Given the description of an element on the screen output the (x, y) to click on. 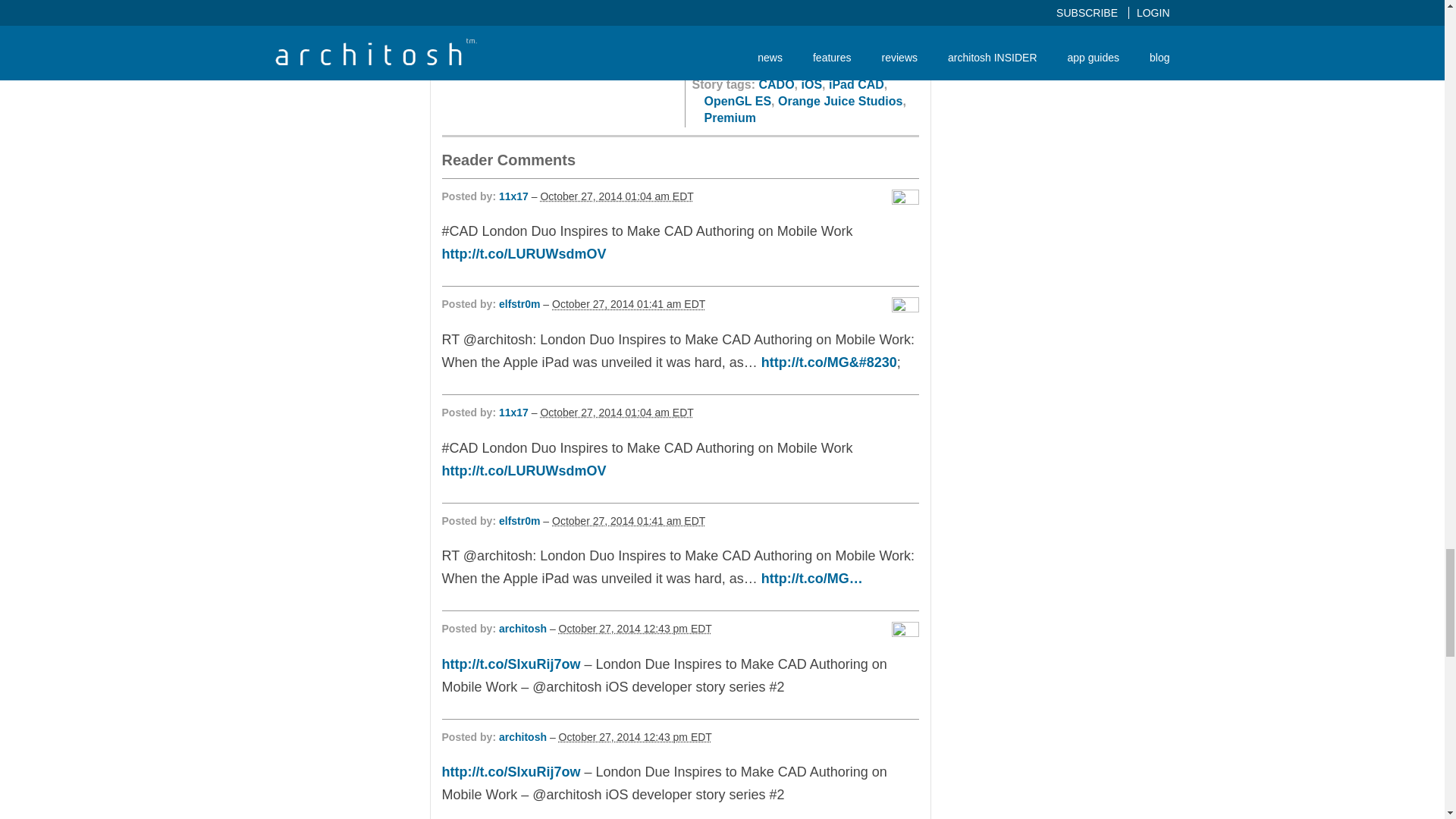
2014-10-27T01:00:55-0400 (616, 196)
CADO (775, 83)
iOS (811, 83)
2014-10-27T01:00:55-0400 (627, 304)
2014-10-27T01:00:55-0400 (616, 412)
Special (843, 66)
iPad CAD (855, 83)
OpenGL ES (737, 101)
Features (789, 66)
